Given the description of an element on the screen output the (x, y) to click on. 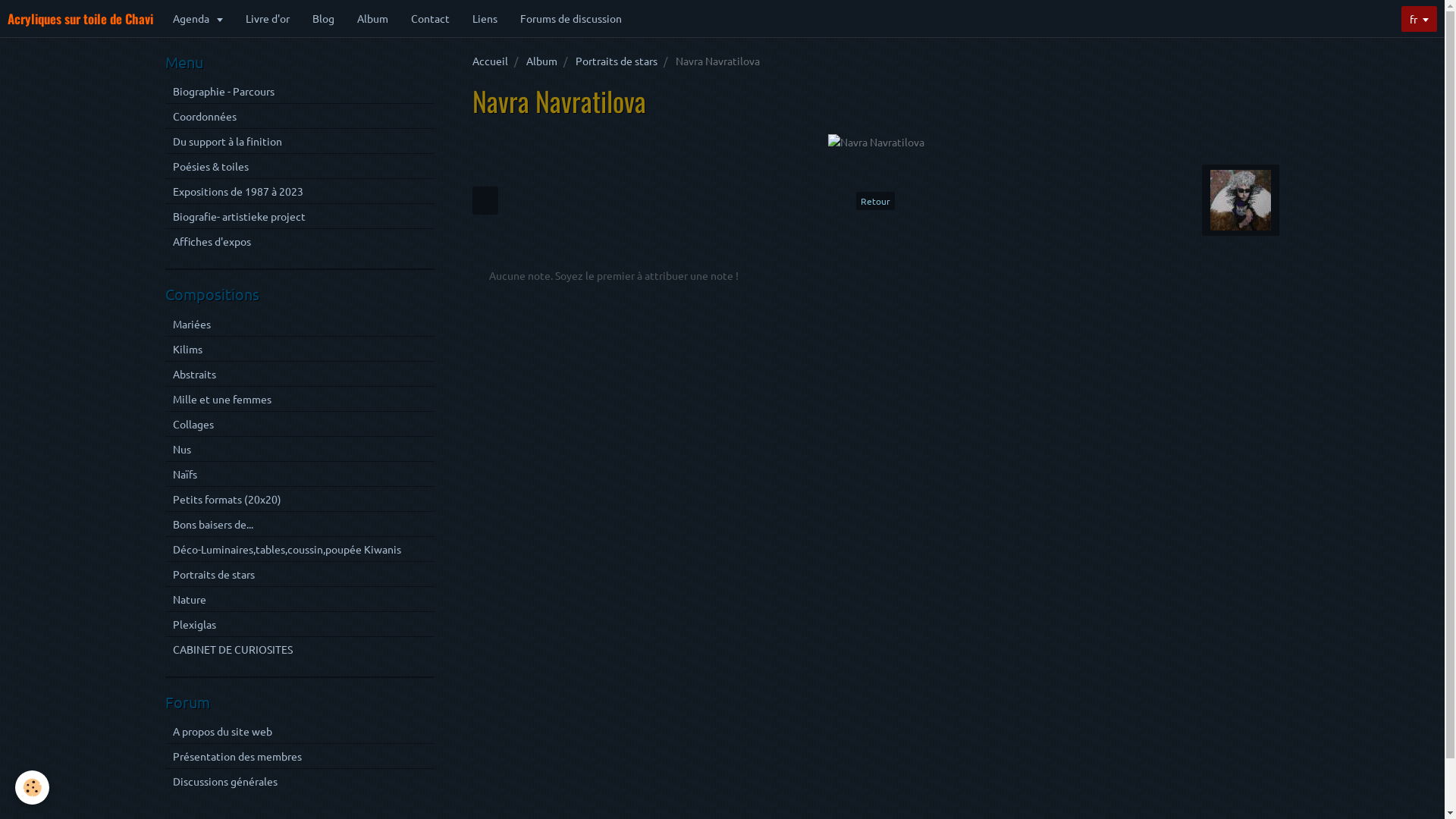
Album Element type: text (372, 18)
Liens Element type: text (484, 18)
Nus Element type: text (299, 448)
Contact Element type: text (430, 18)
Mille et une femmes Element type: text (299, 398)
Portraits de stars Element type: text (615, 60)
Album Element type: text (541, 60)
A propos du site web Element type: text (299, 730)
Retour Element type: text (875, 200)
Biographie - Parcours Element type: text (299, 90)
Biografie- artistieke project Element type: text (299, 215)
fr Element type: text (1419, 18)
CABINET DE CURIOSITES Element type: text (299, 649)
Blog Element type: text (323, 18)
Livre d'or Element type: text (267, 18)
Collages Element type: text (299, 423)
Forums de discussion Element type: text (570, 18)
Affiches d'expos Element type: text (299, 241)
Agenda Element type: text (197, 18)
Accueil Element type: text (489, 60)
Bons baisers de... Element type: text (299, 523)
Portraits de stars Element type: text (299, 573)
Abstraits Element type: text (299, 373)
Kilims Element type: text (299, 348)
Acryliques sur toile de Chavi Element type: text (80, 18)
Petits formats (20x20) Element type: text (299, 498)
Nature Element type: text (299, 598)
Plexiglas Element type: text (299, 623)
